Given the description of an element on the screen output the (x, y) to click on. 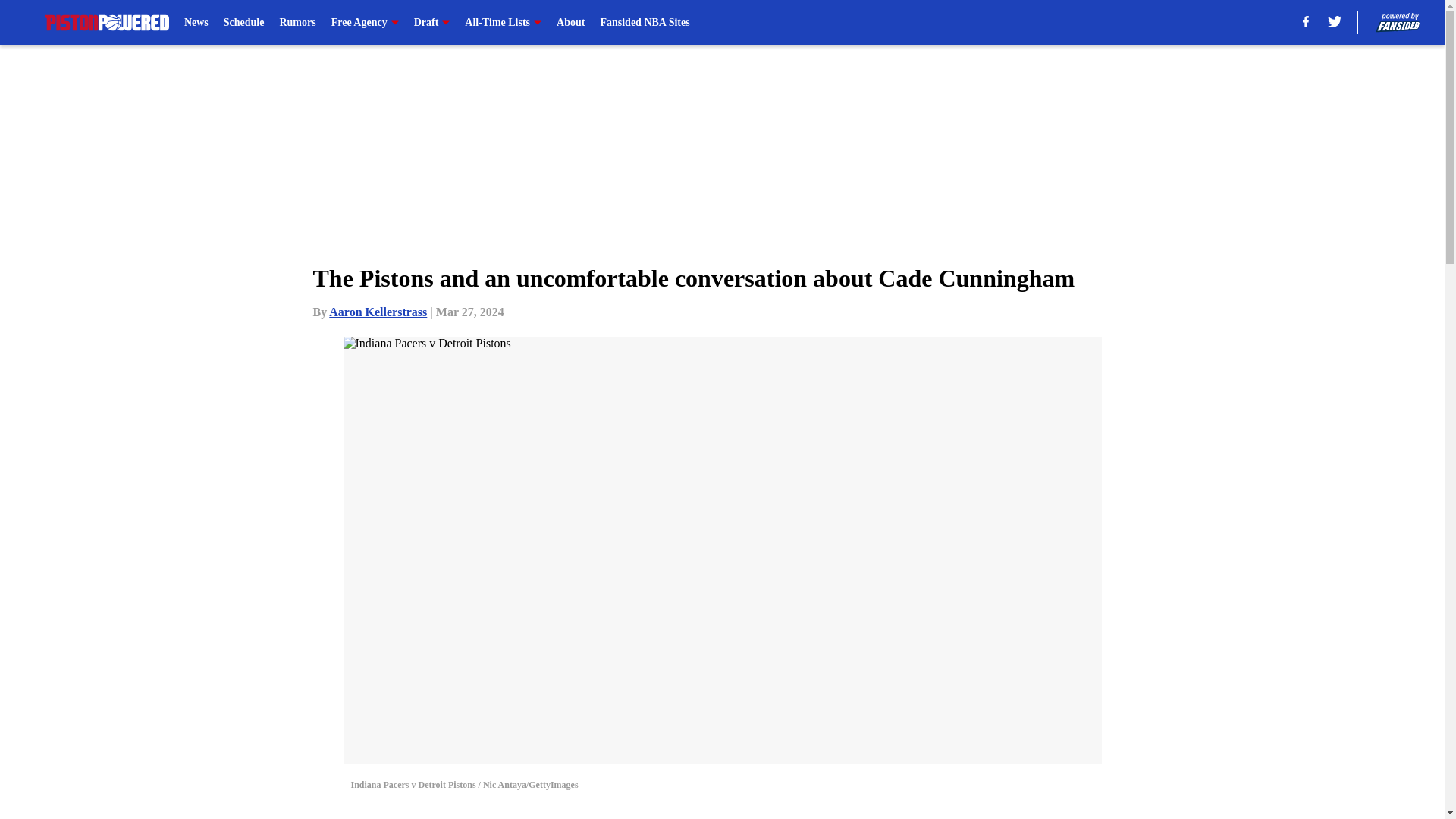
Free Agency (364, 22)
About (570, 22)
All-Time Lists (502, 22)
Aaron Kellerstrass (377, 311)
Fansided NBA Sites (643, 22)
Schedule (244, 22)
News (196, 22)
Rumors (297, 22)
Draft (431, 22)
